Given the description of an element on the screen output the (x, y) to click on. 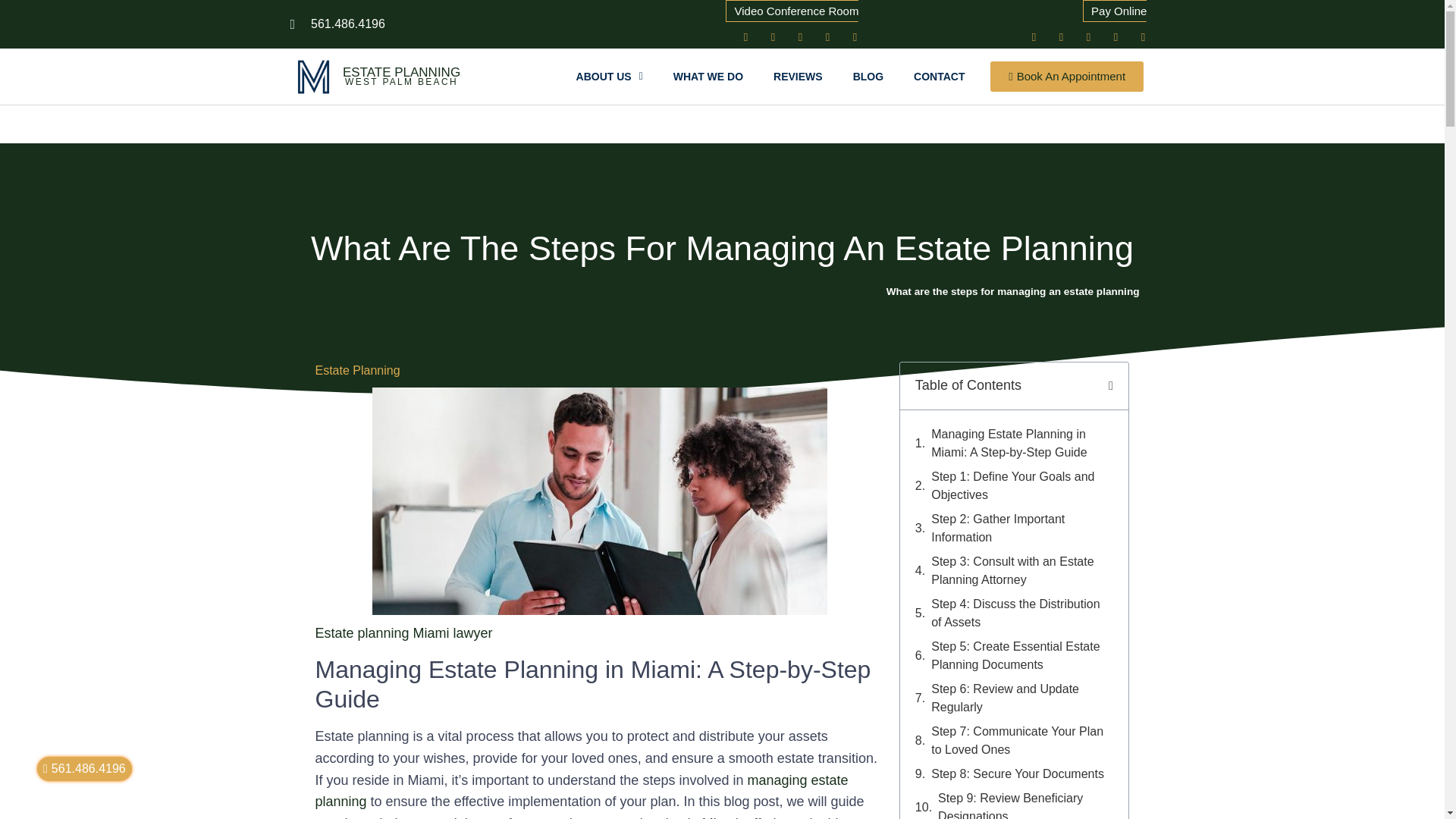
managing estate planning (581, 791)
WEST PALM BEACH (401, 81)
WHAT WE DO (708, 76)
561.486.4196 (336, 24)
Estate planning Miami lawyer (404, 632)
CONTACT (938, 76)
Video Conference Room (792, 29)
Book An Appointment (1066, 76)
Pay Online (1115, 21)
Estate Planning (357, 369)
